Given the description of an element on the screen output the (x, y) to click on. 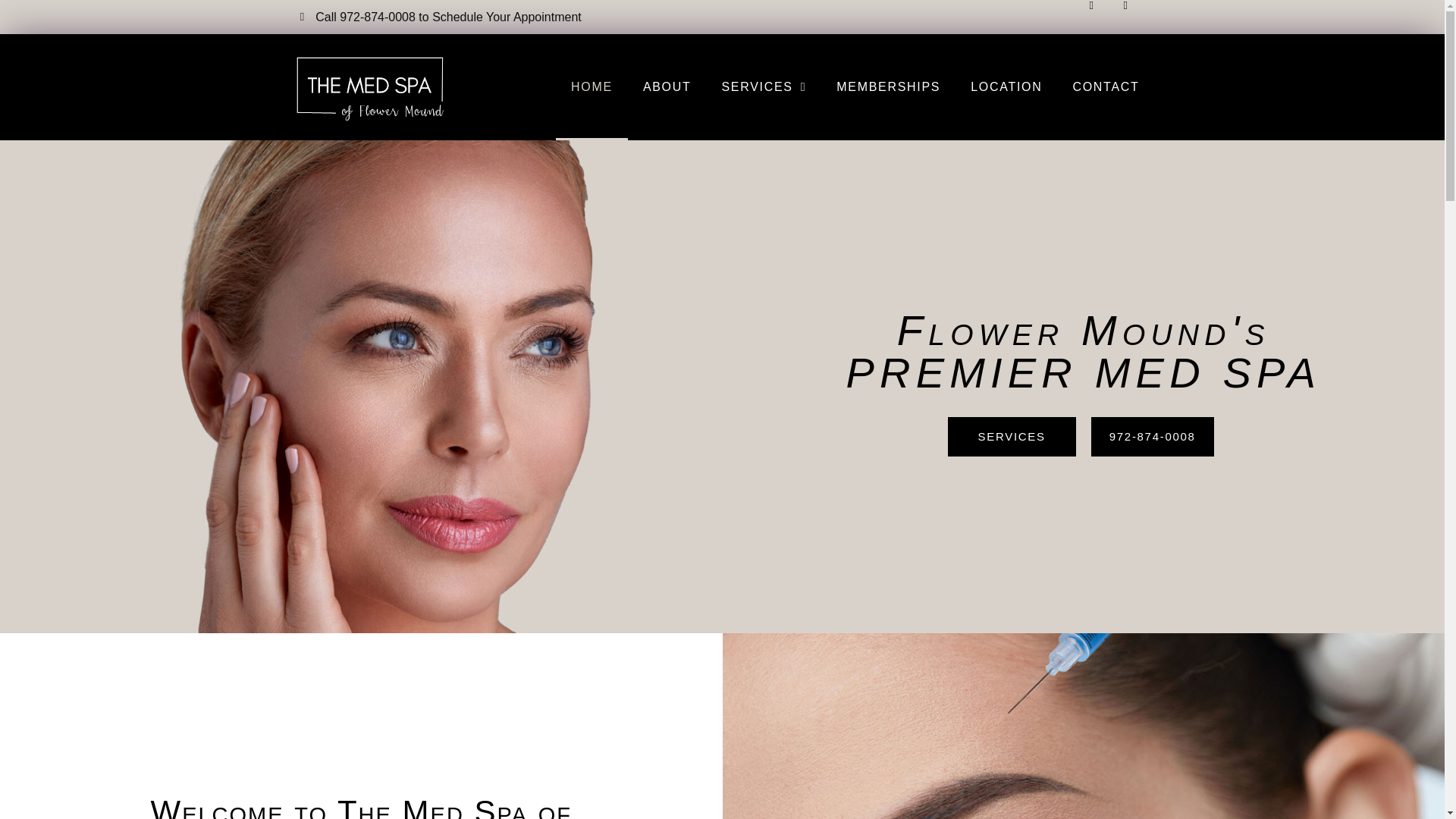
MEMBERSHIPS (888, 87)
SERVICES (764, 87)
LOCATION (1006, 87)
SERVICES (1011, 436)
CONTACT (1105, 87)
